Given the description of an element on the screen output the (x, y) to click on. 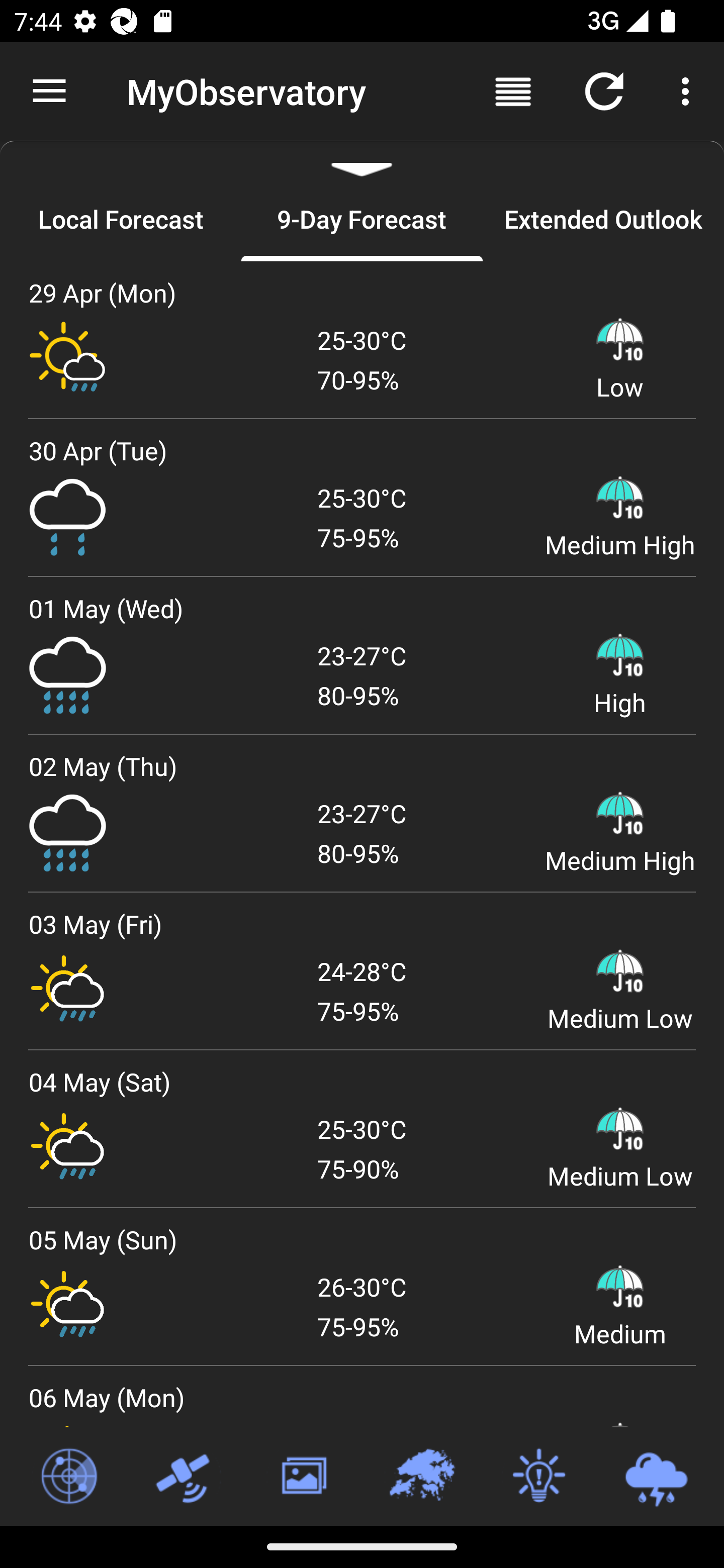
Navigate up (49, 91)
Vertical layout (512, 90)
Refresh (604, 90)
More options (688, 90)
Collapse (362, 159)
Local Forecast (120, 219)
Extended Outlook (603, 219)
Radar Images (68, 1476)
Satellite Images (185, 1476)
Weather Photos (302, 1476)
Regional Weather (420, 1476)
Weather Tips (537, 1476)
Loc-based Rain & Lightning Forecast (655, 1476)
